Given the description of an element on the screen output the (x, y) to click on. 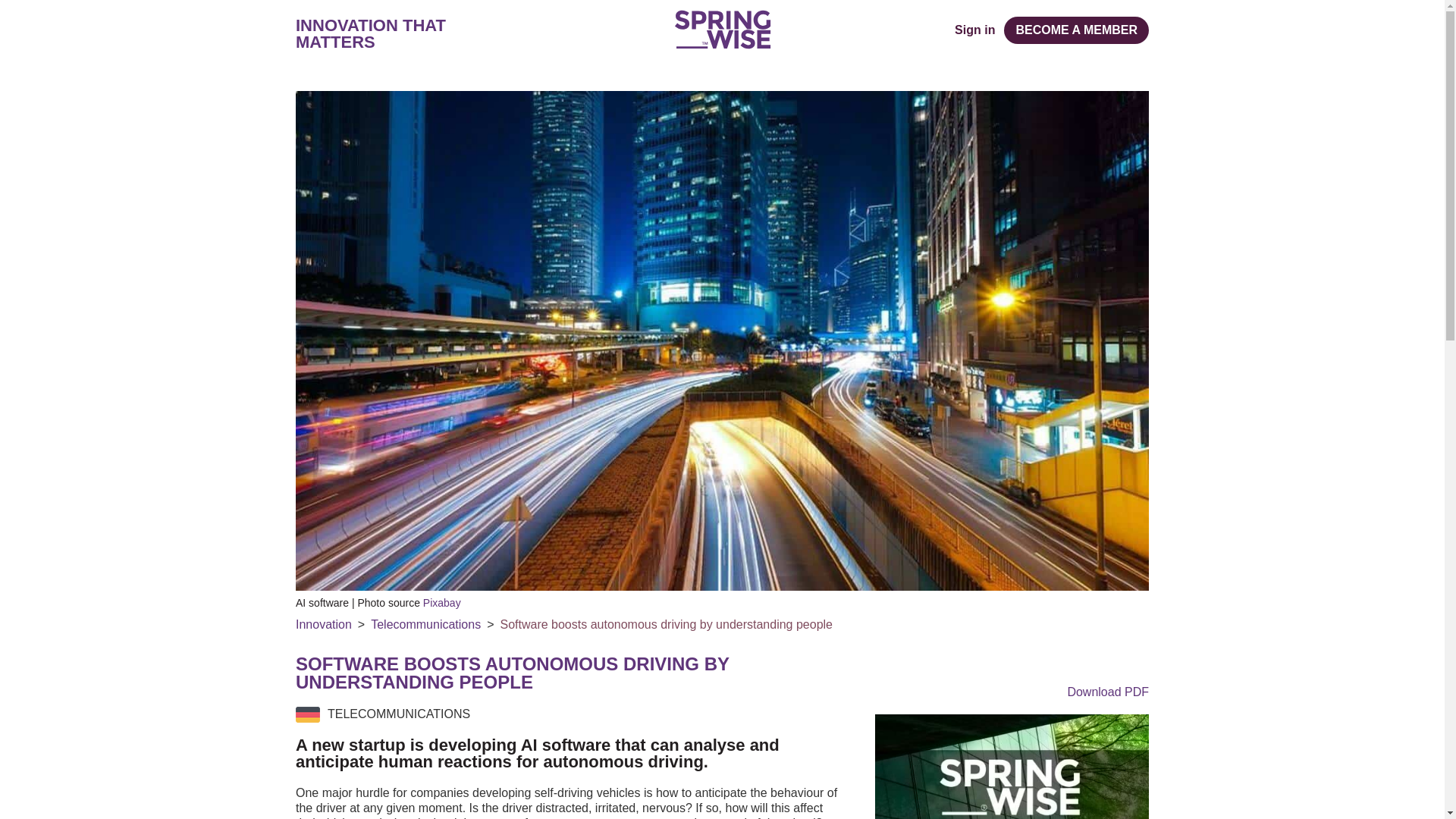
Sign in (974, 30)
Email (1141, 662)
Pixabay (442, 603)
Innovation (323, 624)
Download PDF (1011, 692)
Tumblr (1079, 662)
Linked In (1110, 662)
Facebook (1018, 662)
Home (721, 29)
BECOME A MEMBER (1076, 30)
Springwise (721, 29)
Telecommunications (425, 624)
Twitter (1049, 662)
